Given the description of an element on the screen output the (x, y) to click on. 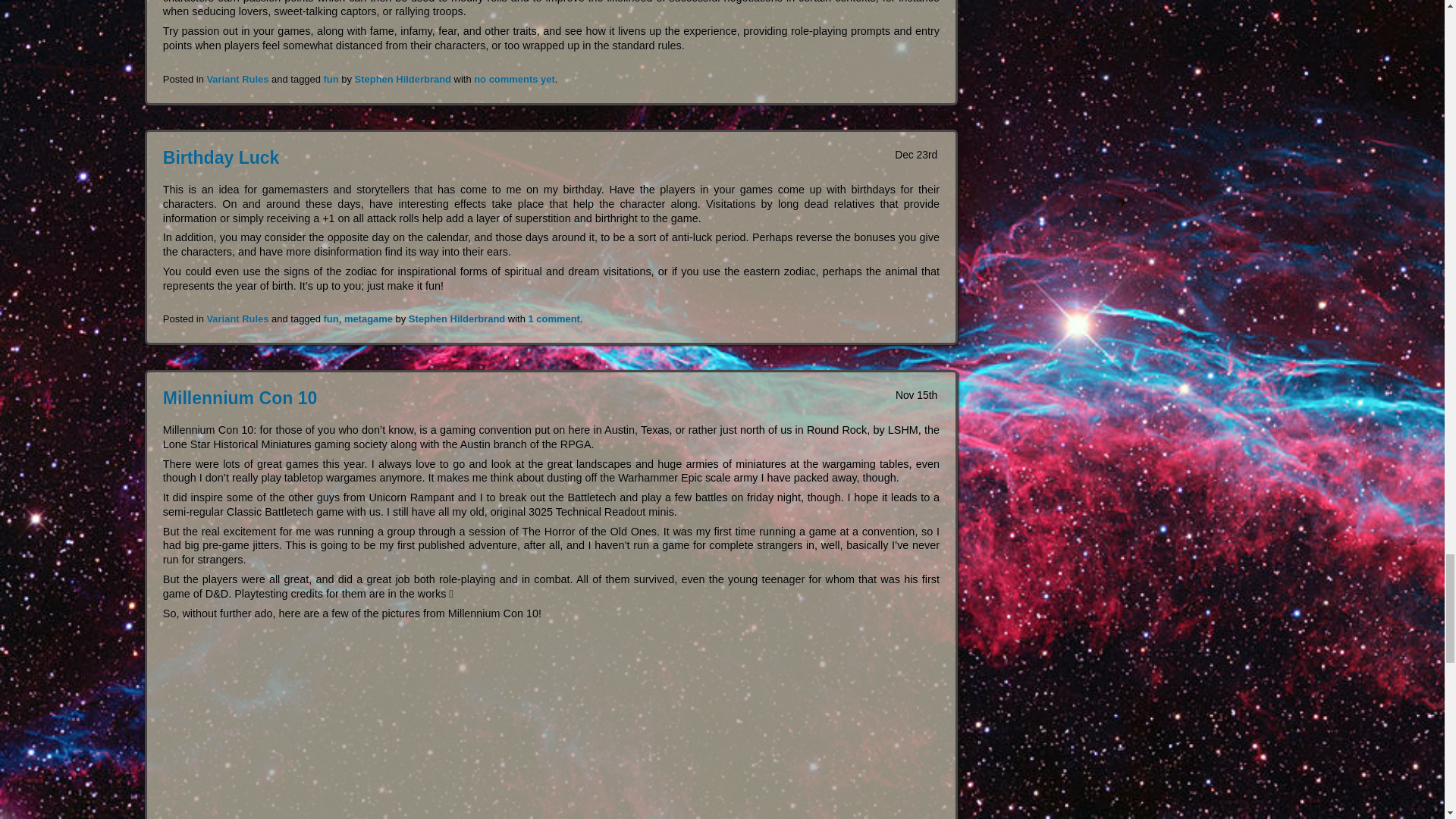
Birthday Luck (221, 157)
Posts by Stephen Hilderbrand (457, 318)
Posts by Stephen Hilderbrand (403, 79)
